Given the description of an element on the screen output the (x, y) to click on. 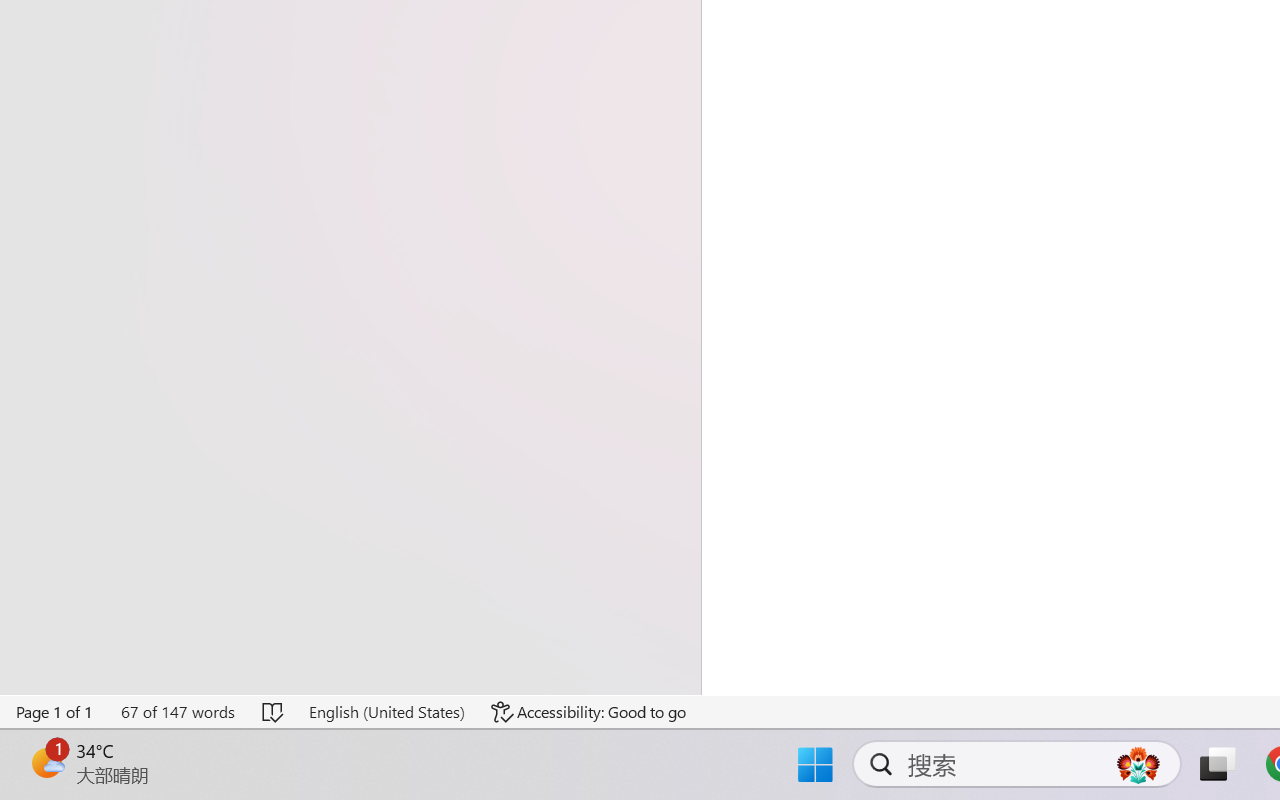
Page Number Page 1 of 1 (55, 712)
